Given the description of an element on the screen output the (x, y) to click on. 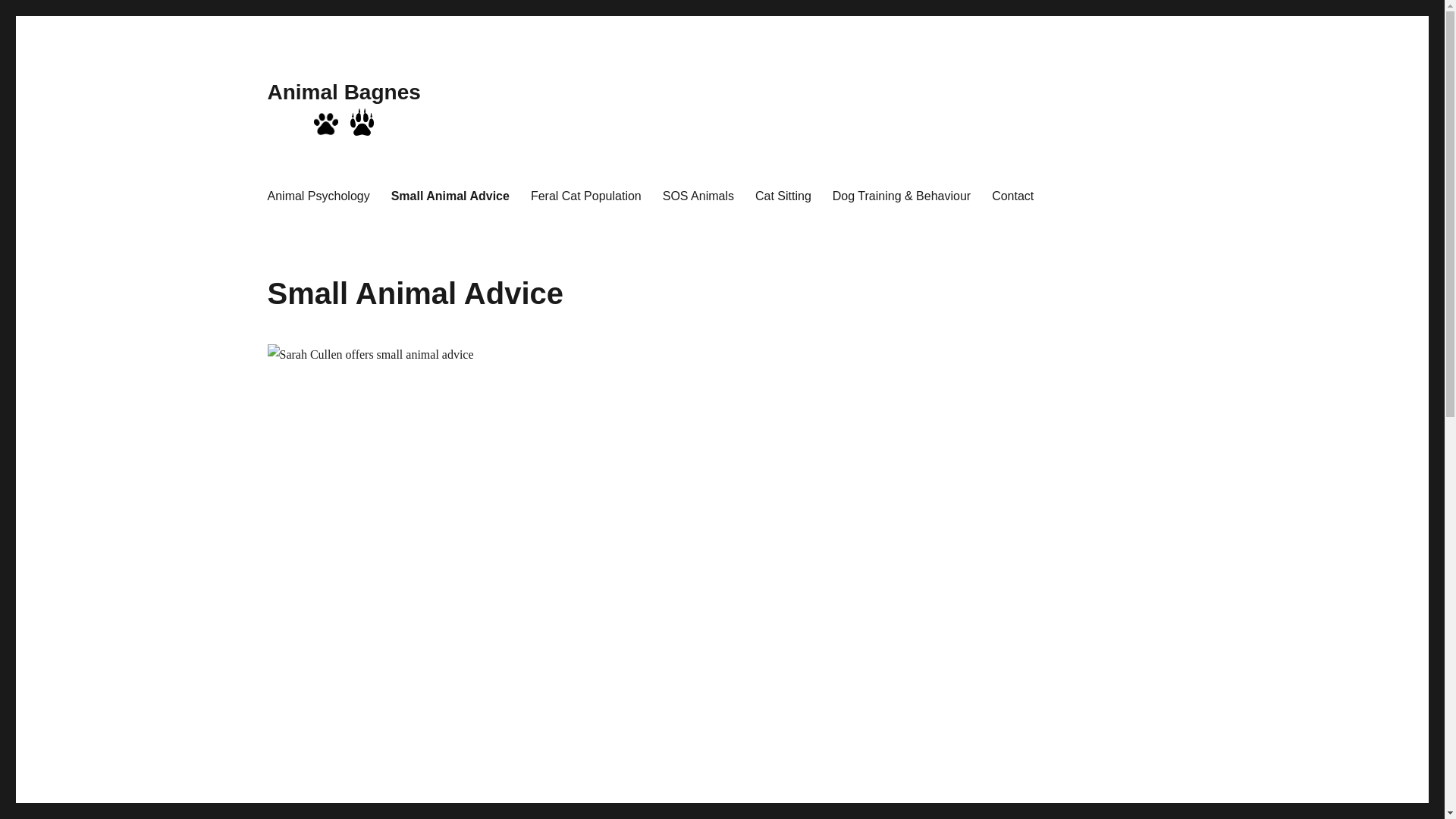
SOS Animals Element type: text (698, 195)
Feral Cat Population Element type: text (586, 195)
Dog Training & Behaviour Element type: text (901, 195)
Small Animal Advice Element type: text (450, 195)
Contact Element type: text (1012, 195)
Animal Psychology Element type: text (317, 195)
Cat Sitting Element type: text (783, 195)
Animal Bagnes Element type: text (343, 91)
